Given the description of an element on the screen output the (x, y) to click on. 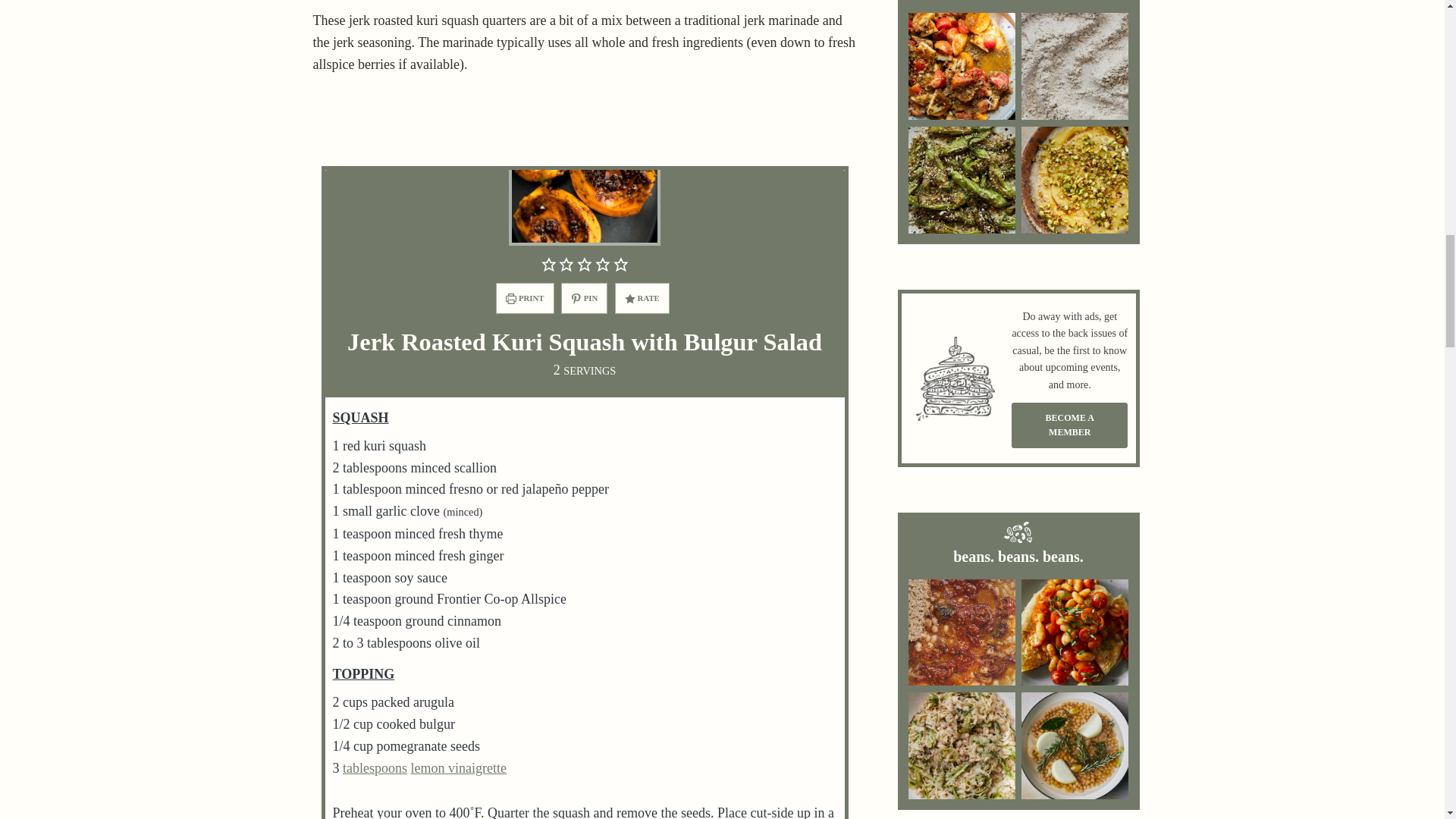
PRINT (524, 297)
lemon vinaigrette (458, 767)
tablespoons (374, 767)
RATE (641, 297)
PIN (583, 297)
